Given the description of an element on the screen output the (x, y) to click on. 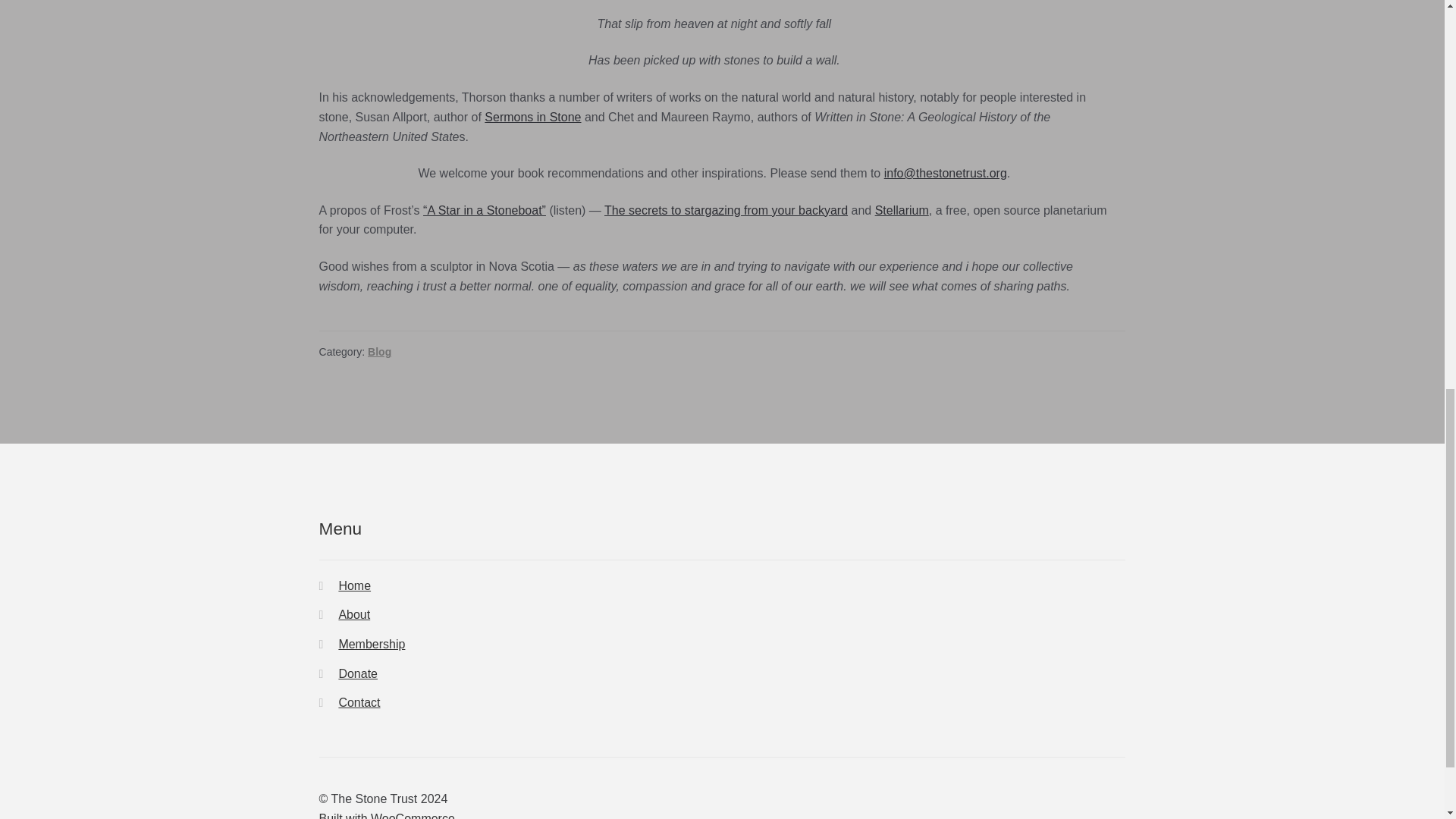
WooCommerce - The Best eCommerce Platform for WordPress (386, 815)
